Given the description of an element on the screen output the (x, y) to click on. 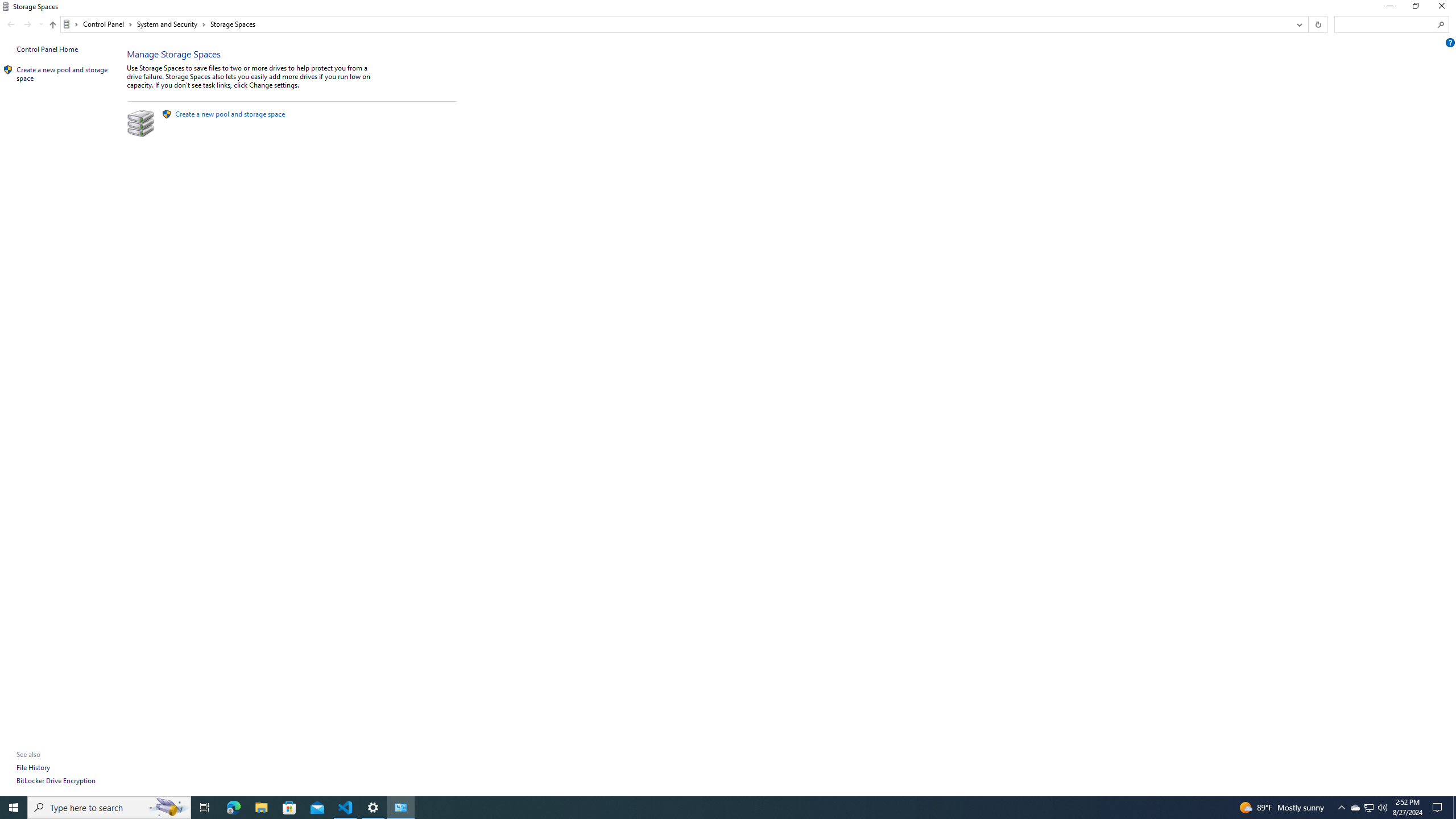
Recent locations (40, 23)
Icon (7, 69)
Control Panel Home (47, 49)
Restore (1415, 8)
Control Panel - 1 running window (400, 807)
File History (33, 767)
Back (Alt + Left Arrow) (10, 23)
AutomationID: Help (1450, 42)
All locations (70, 23)
